Given the description of an element on the screen output the (x, y) to click on. 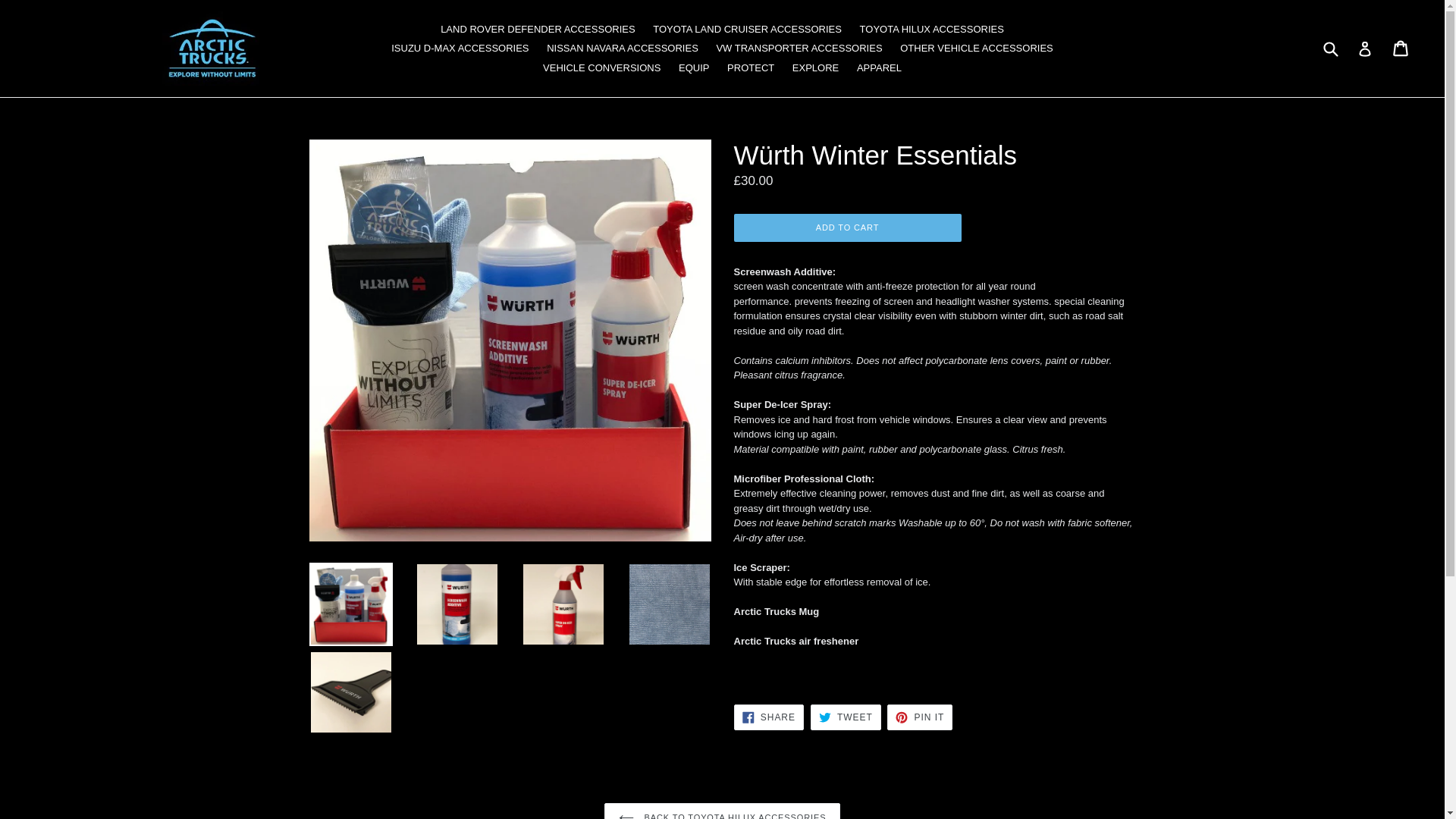
EXPLORE (814, 67)
TOYOTA HILUX ACCESSORIES (931, 29)
OTHER VEHICLE ACCESSORIES (976, 48)
VEHICLE CONVERSIONS (601, 67)
NISSAN NAVARA ACCESSORIES (622, 48)
Share on Facebook (768, 717)
LAND ROVER DEFENDER ACCESSORIES (1401, 48)
VW TRANSPORTER ACCESSORIES (537, 29)
Pin on Pinterest (798, 48)
Tweet on Twitter (919, 717)
Log in (845, 717)
Submit (1364, 49)
ISUZU D-MAX ACCESSORIES (1329, 48)
TOYOTA LAND CRUISER ACCESSORIES (459, 48)
